Given the description of an element on the screen output the (x, y) to click on. 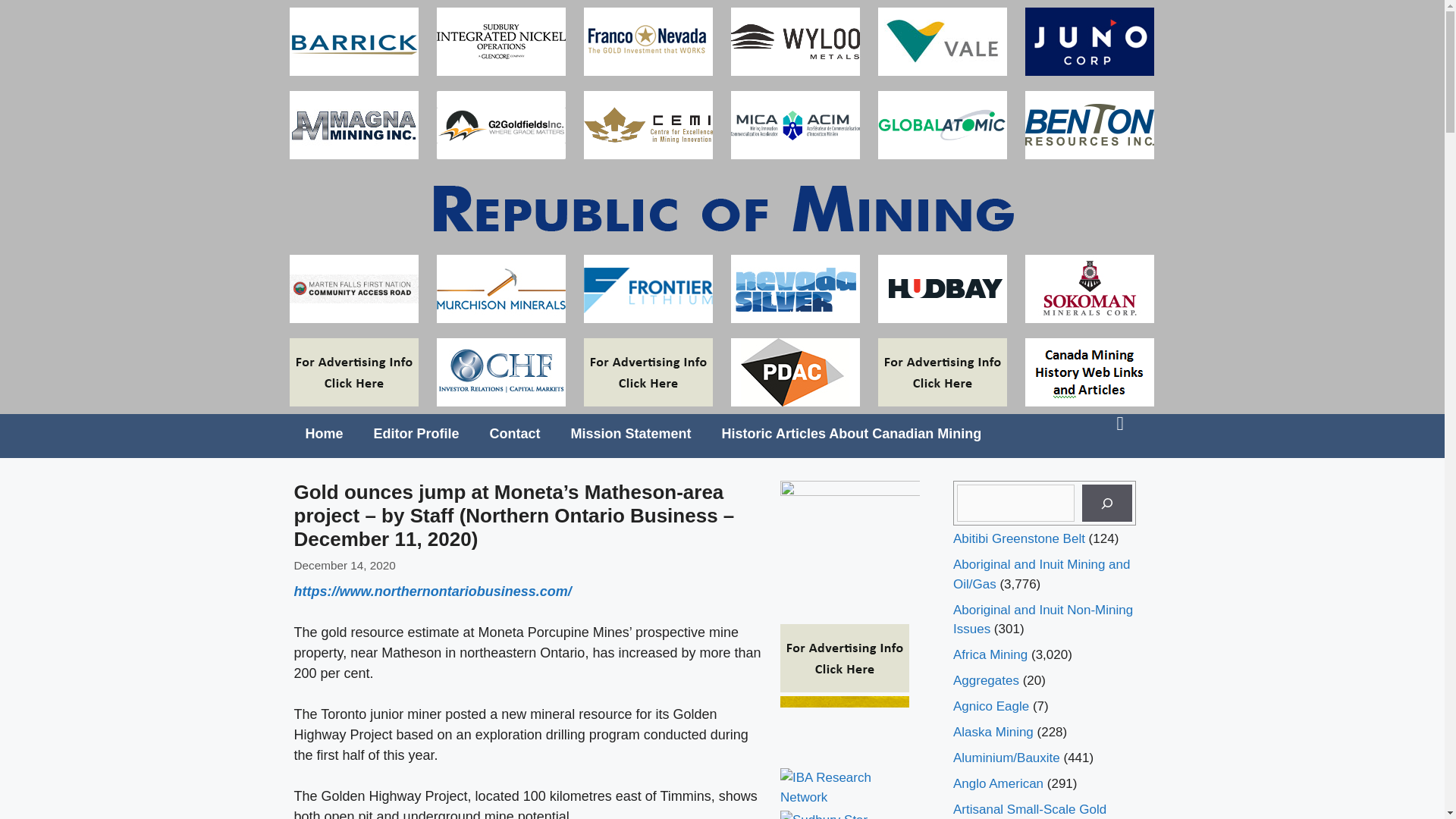
Contact (515, 433)
Editor Profile (416, 433)
Mission Statement (631, 433)
Historic Articles About Canadian Mining (851, 433)
Home (323, 433)
